Given the description of an element on the screen output the (x, y) to click on. 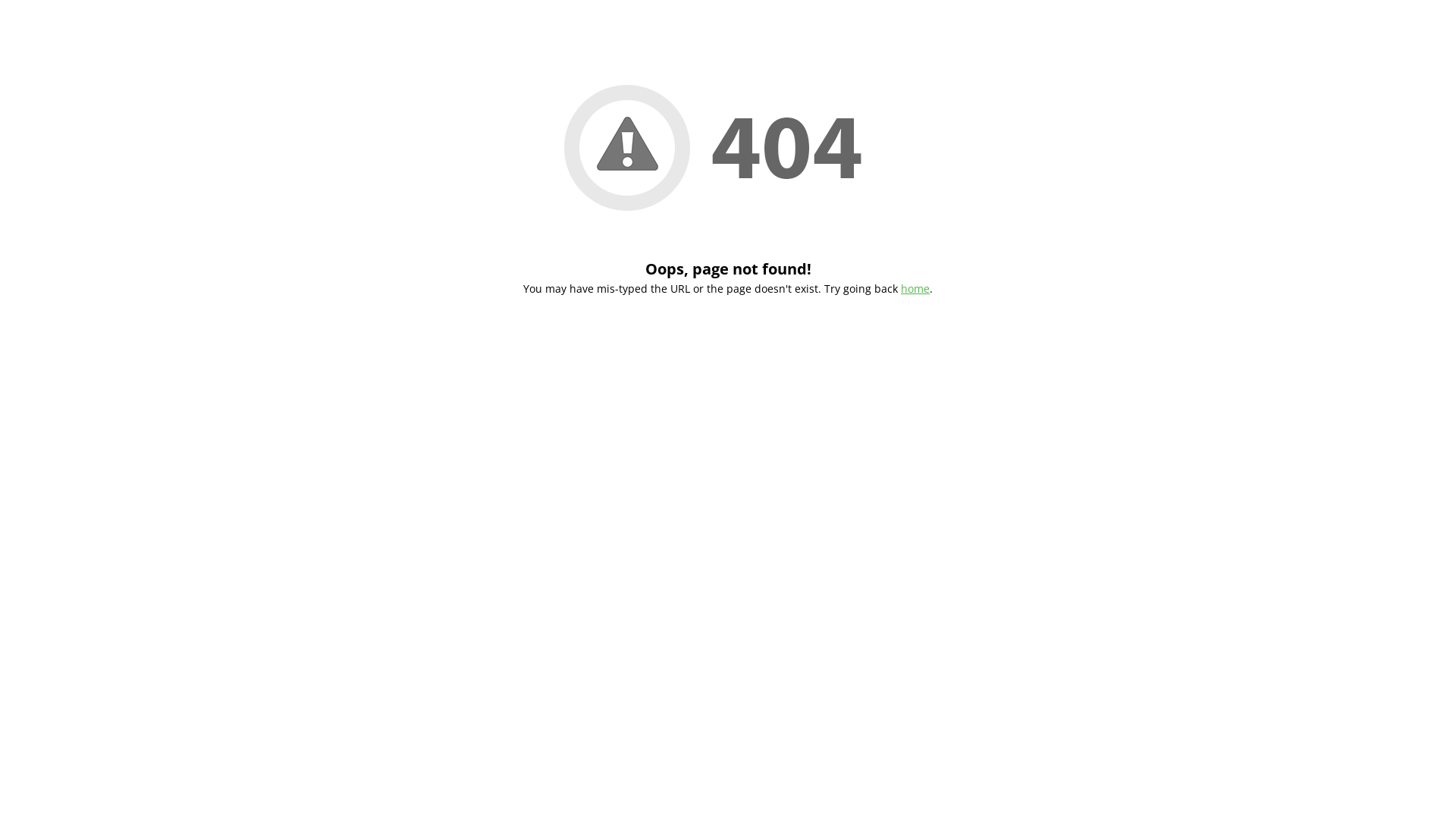
home Element type: text (914, 288)
